Given the description of an element on the screen output the (x, y) to click on. 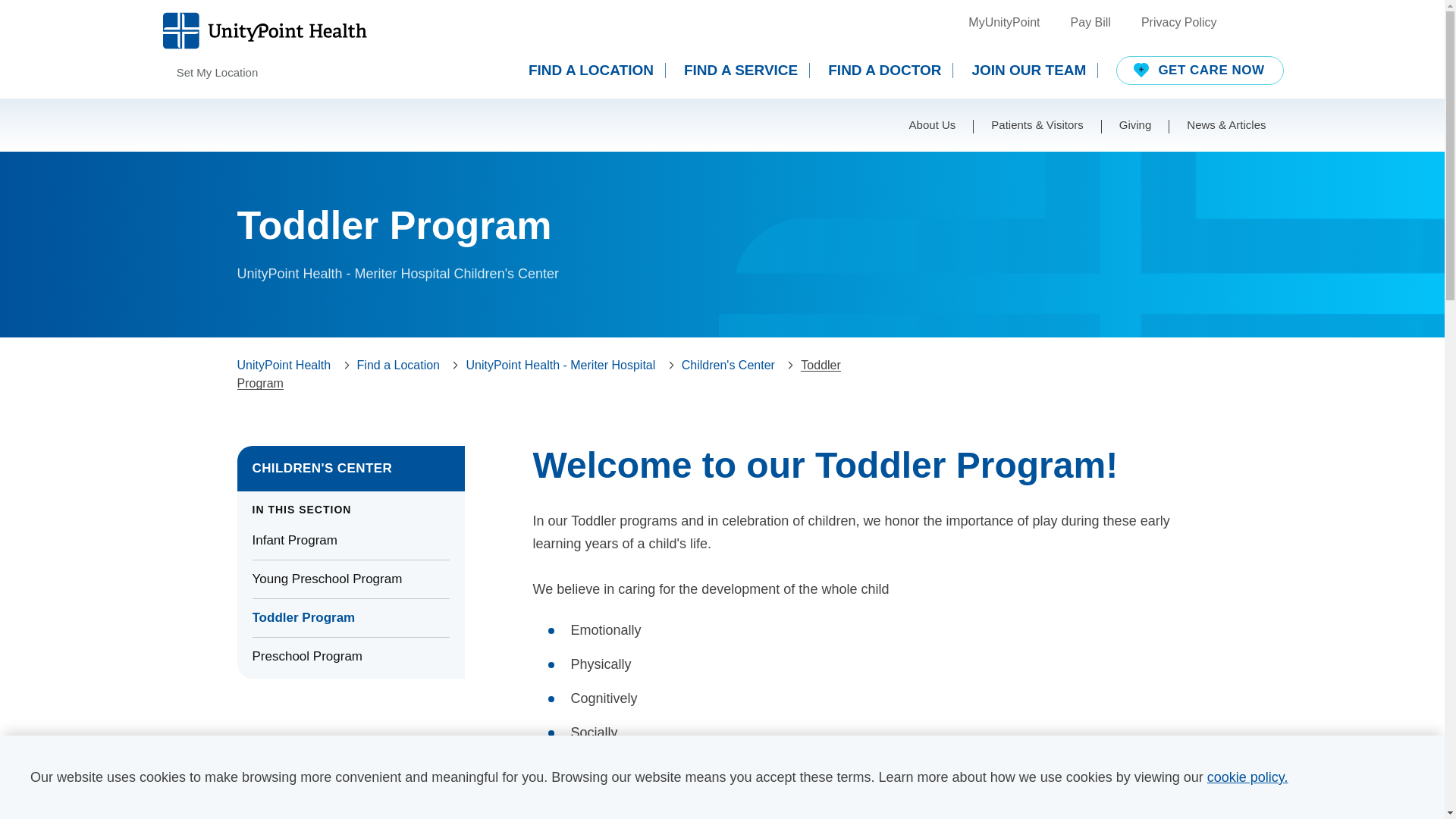
Find a Location (397, 364)
GET CARE NOW (1199, 70)
Giving (1135, 124)
Toddler Program (349, 617)
Young Preschool Program (349, 579)
About Us (932, 124)
FIND A DOCTOR (890, 69)
Preschool Program (349, 656)
Children's Center (727, 364)
cookie policy. (1247, 776)
